Given the description of an element on the screen output the (x, y) to click on. 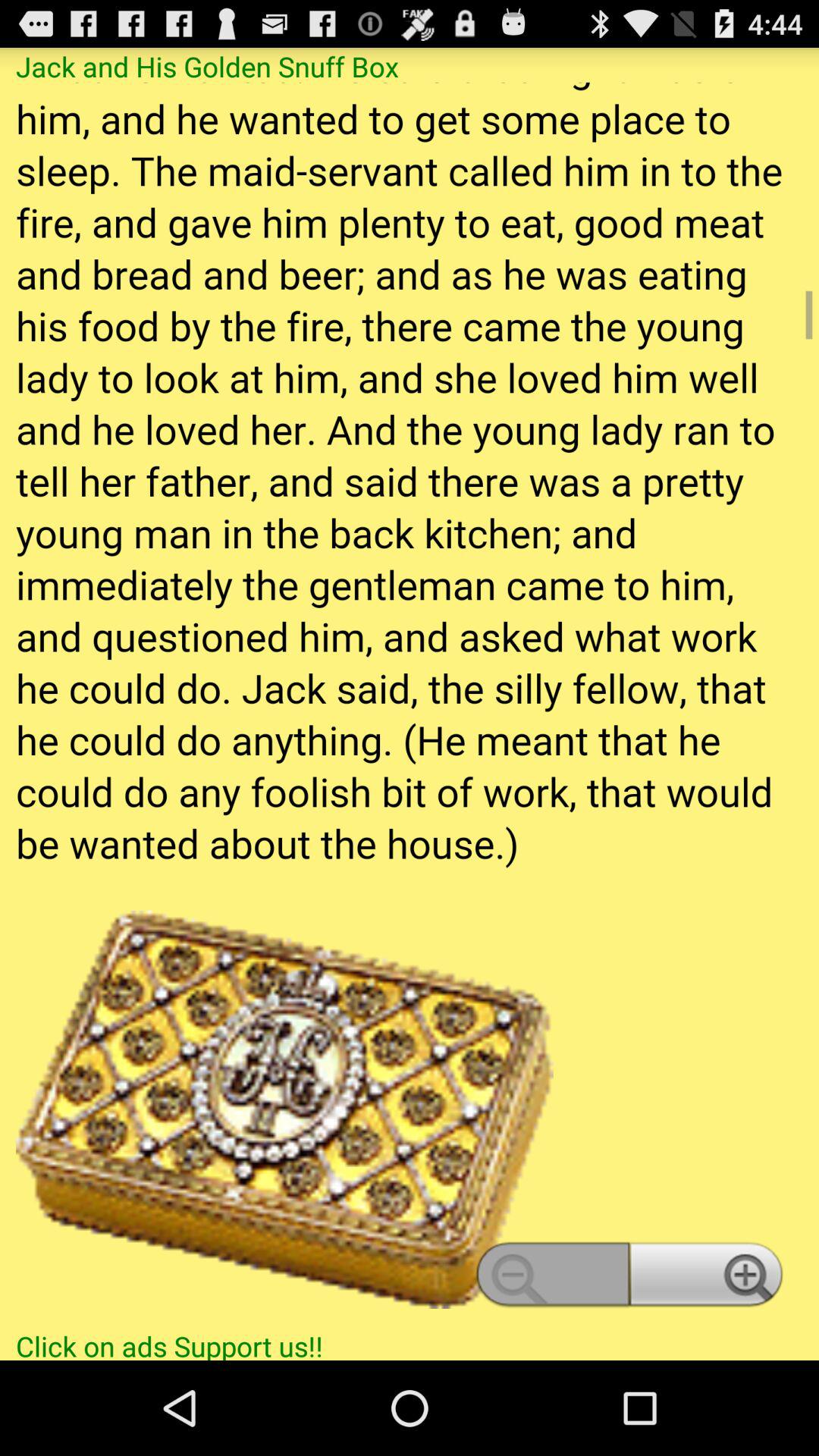
story content (409, 704)
